Given the description of an element on the screen output the (x, y) to click on. 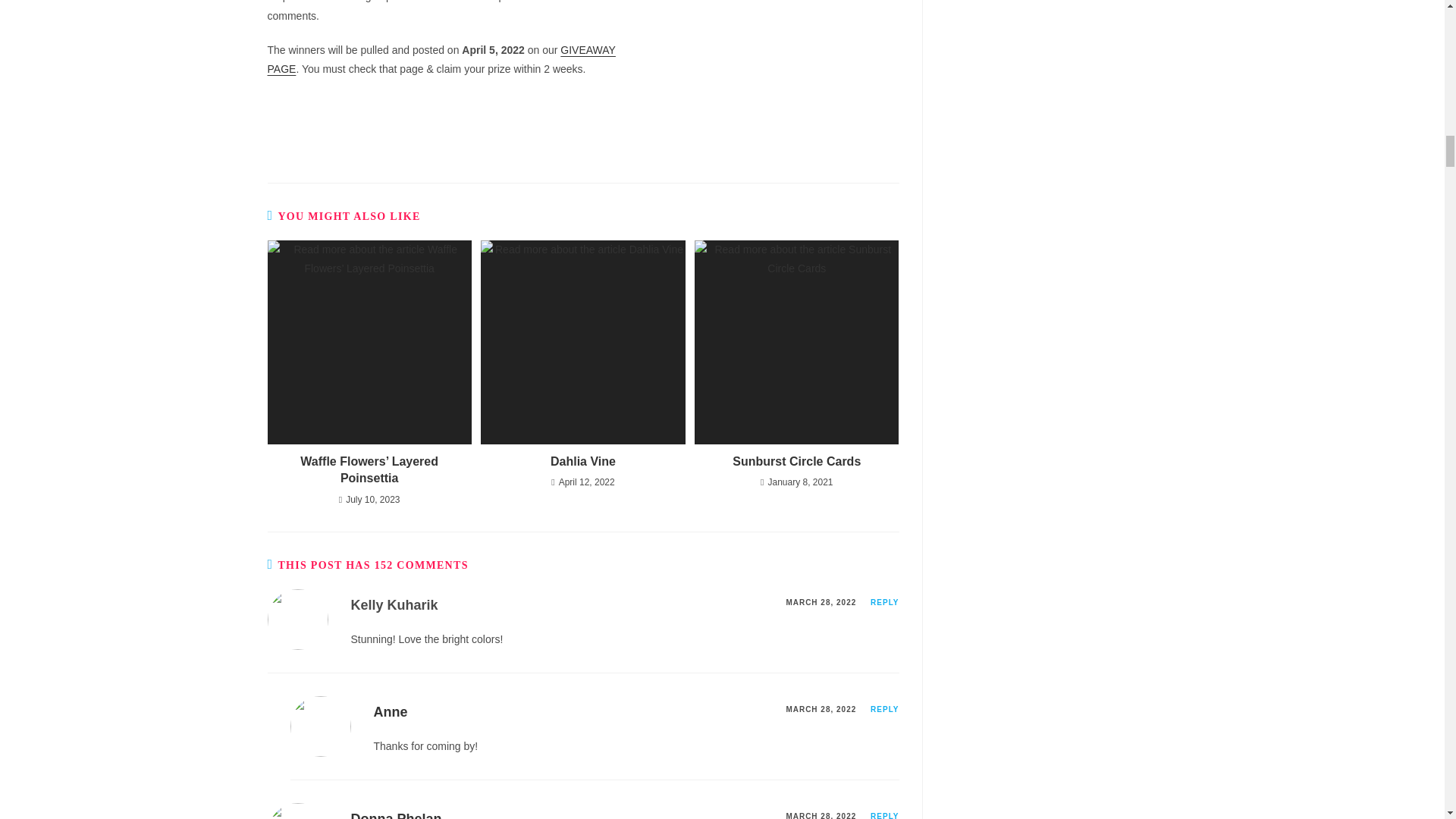
GIVEAWAY PAGE (440, 59)
